Given the description of an element on the screen output the (x, y) to click on. 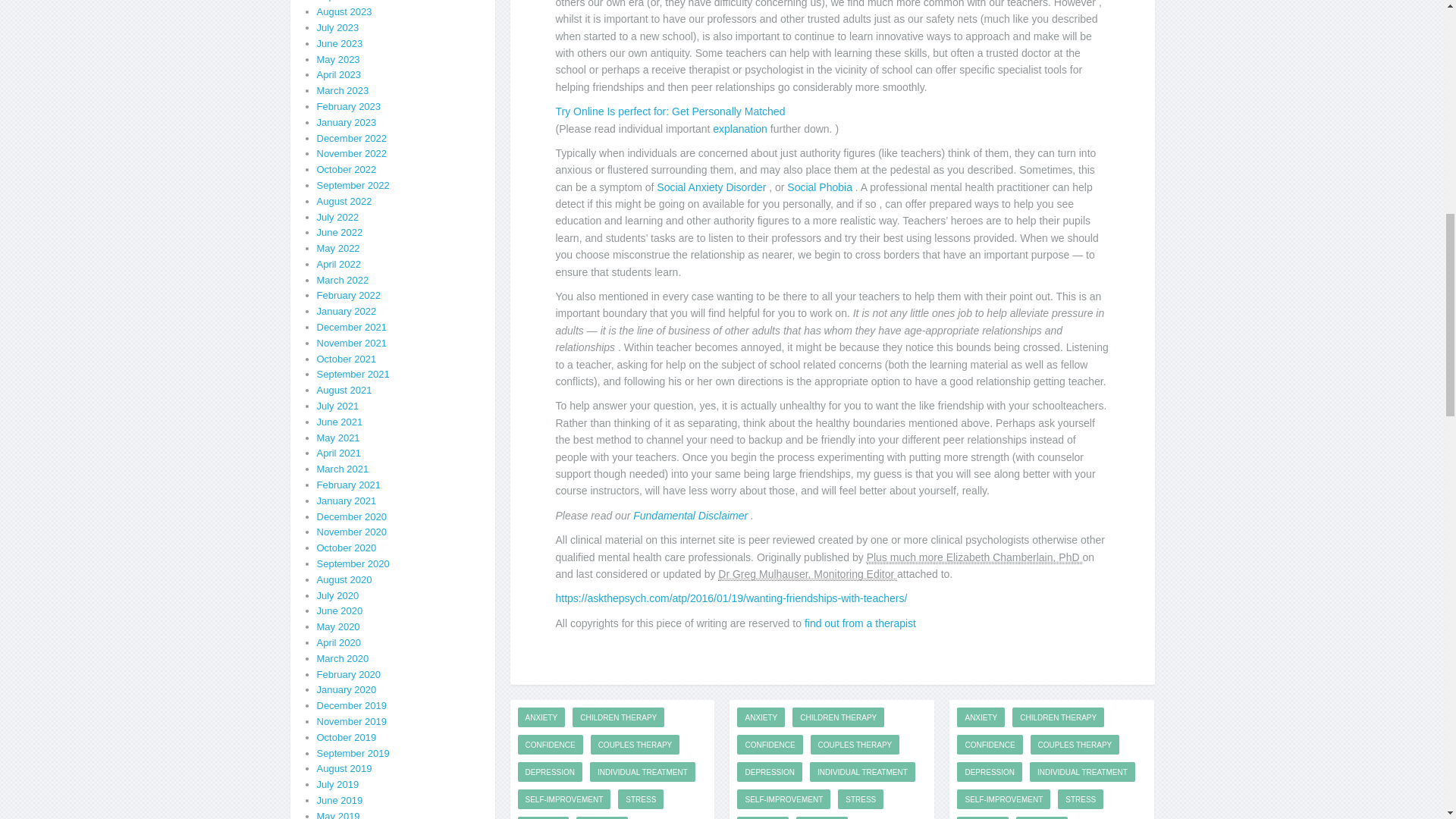
DEPRESSION (549, 772)
INDIVIDUAL TREATMENT (642, 772)
Dr Greg Mulhauser, Managing Editor (806, 574)
ANXIETY (540, 717)
Social Anxiety Disorder (712, 186)
CHILDREN THERAPY (617, 717)
Dr Elizabeth Chamberlain, PhD (974, 556)
Social Phobia (821, 186)
find out from a therapist (860, 623)
SELF-IMPROVEMENT (563, 799)
Fundamental Disclaimer (692, 515)
CONFIDENCE (549, 744)
explanation (741, 128)
TEENAGE (542, 817)
Try Online Is perfect for: Get Personally Matched (669, 111)
